Given the description of an element on the screen output the (x, y) to click on. 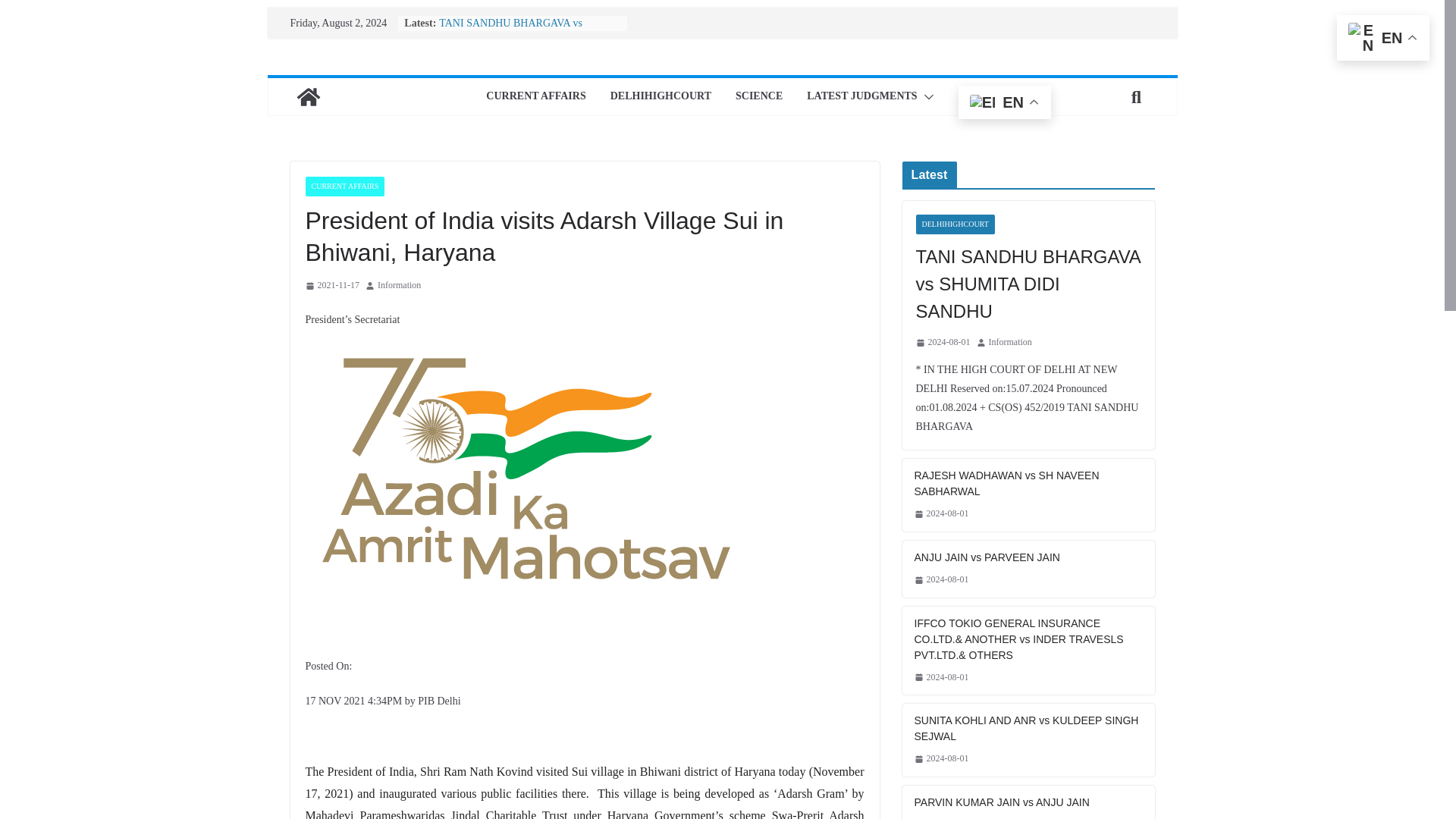
8:17 PM (943, 342)
SUNITA KOHLI AND ANR vs KULDEEP SINGH SEJWAL (1028, 728)
DELHIHIGHCOURT (954, 224)
SCIENCE (759, 96)
2024-08-01 (943, 342)
RAJESH WADHAWAN   vs SH NAVEEN SABHARWAL (1028, 483)
CURRENT AFFAIRS (344, 186)
ANJU JAIN vs PARVEEN JAIN (1028, 557)
4:37 PM (941, 514)
RAJESH WADHAWAN vs SH NAVEEN SABHARWAL (1028, 483)
CURRENT AFFAIRS (535, 96)
2021-11-17 (331, 285)
TANI SANDHU BHARGAVA   vs SHUMITA DIDI SANDHU (1028, 284)
Information (1010, 342)
